Given the description of an element on the screen output the (x, y) to click on. 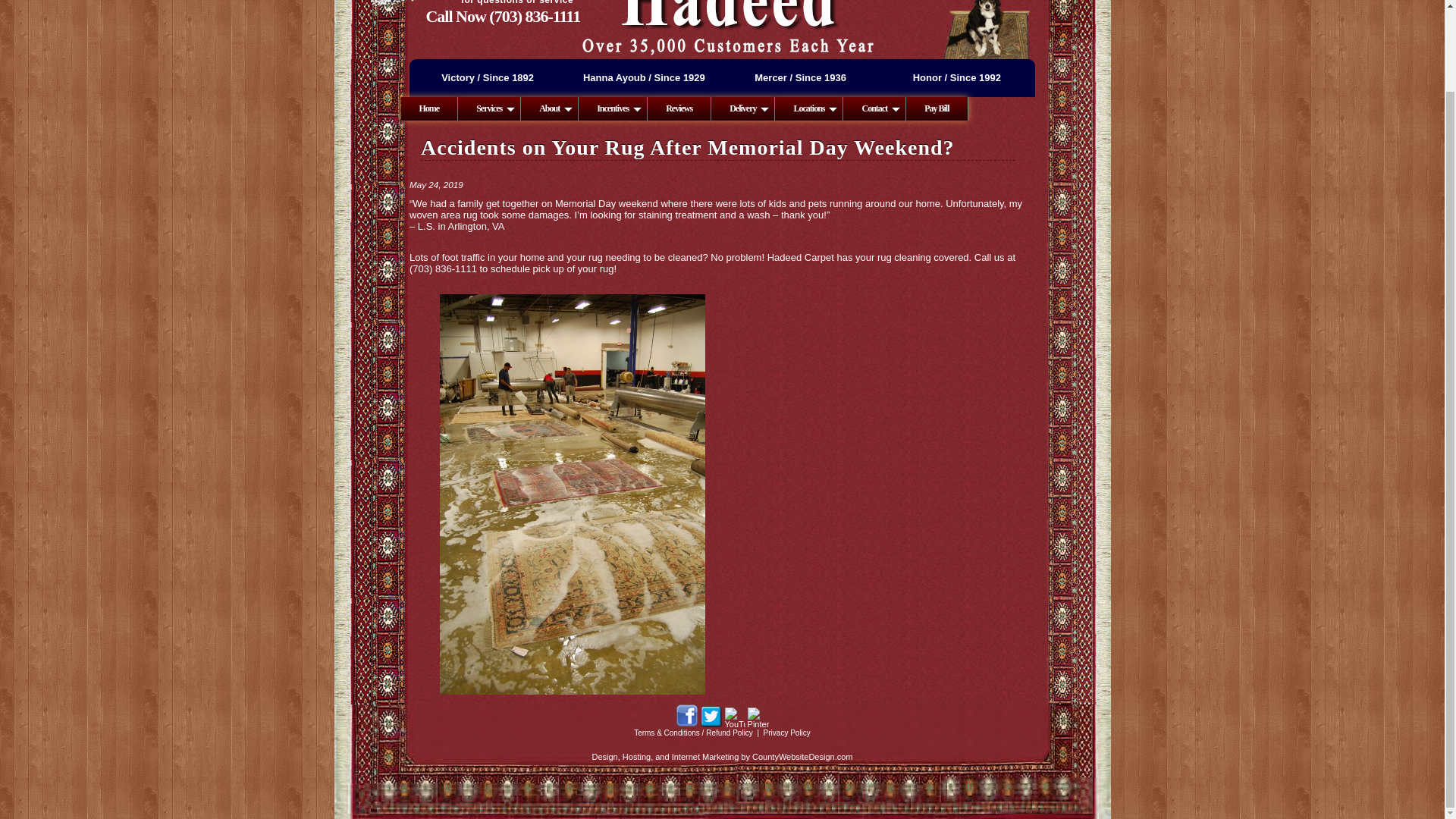
Home (429, 108)
Services (489, 108)
Services (489, 108)
About (549, 108)
Incentives (612, 108)
Call Now (534, 15)
Home (429, 108)
